Given the description of an element on the screen output the (x, y) to click on. 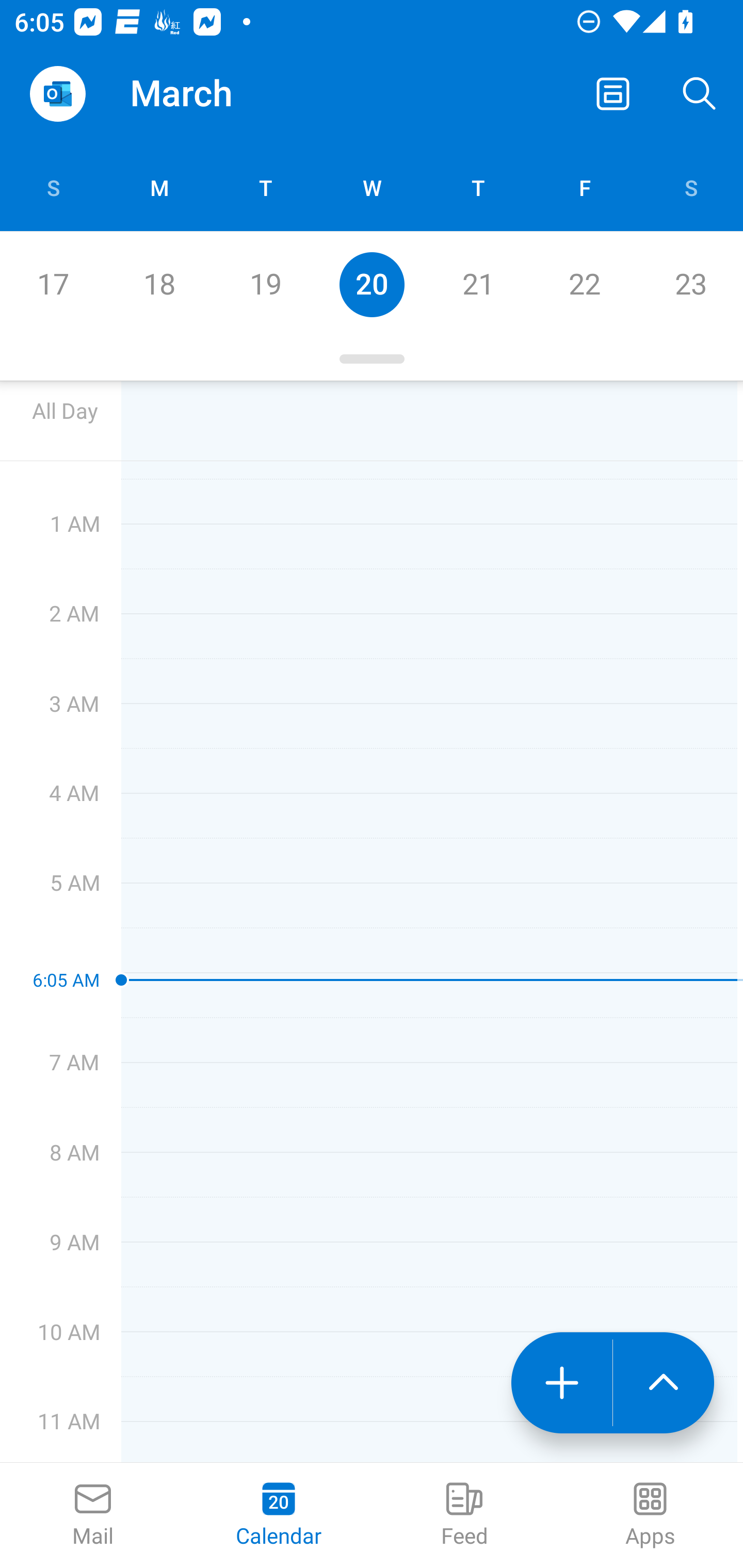
March March 2024, day picker (209, 93)
Switch away from Day view (612, 93)
Search, ,  (699, 93)
Open Navigation Drawer (57, 94)
17 Sunday, March 17 (53, 284)
18 Monday, March 18 (159, 284)
19 Tuesday, March 19 (265, 284)
20 Wednesday, March 20, today, Selected (371, 284)
21 Thursday, March 21 (477, 284)
22 Friday, March 22 (584, 284)
23 Saturday, March 23 (690, 284)
Day picker (371, 359)
New event (561, 1382)
launch the extended action menu (663, 1382)
Mail (92, 1515)
Feed (464, 1515)
Apps (650, 1515)
